Given the description of an element on the screen output the (x, y) to click on. 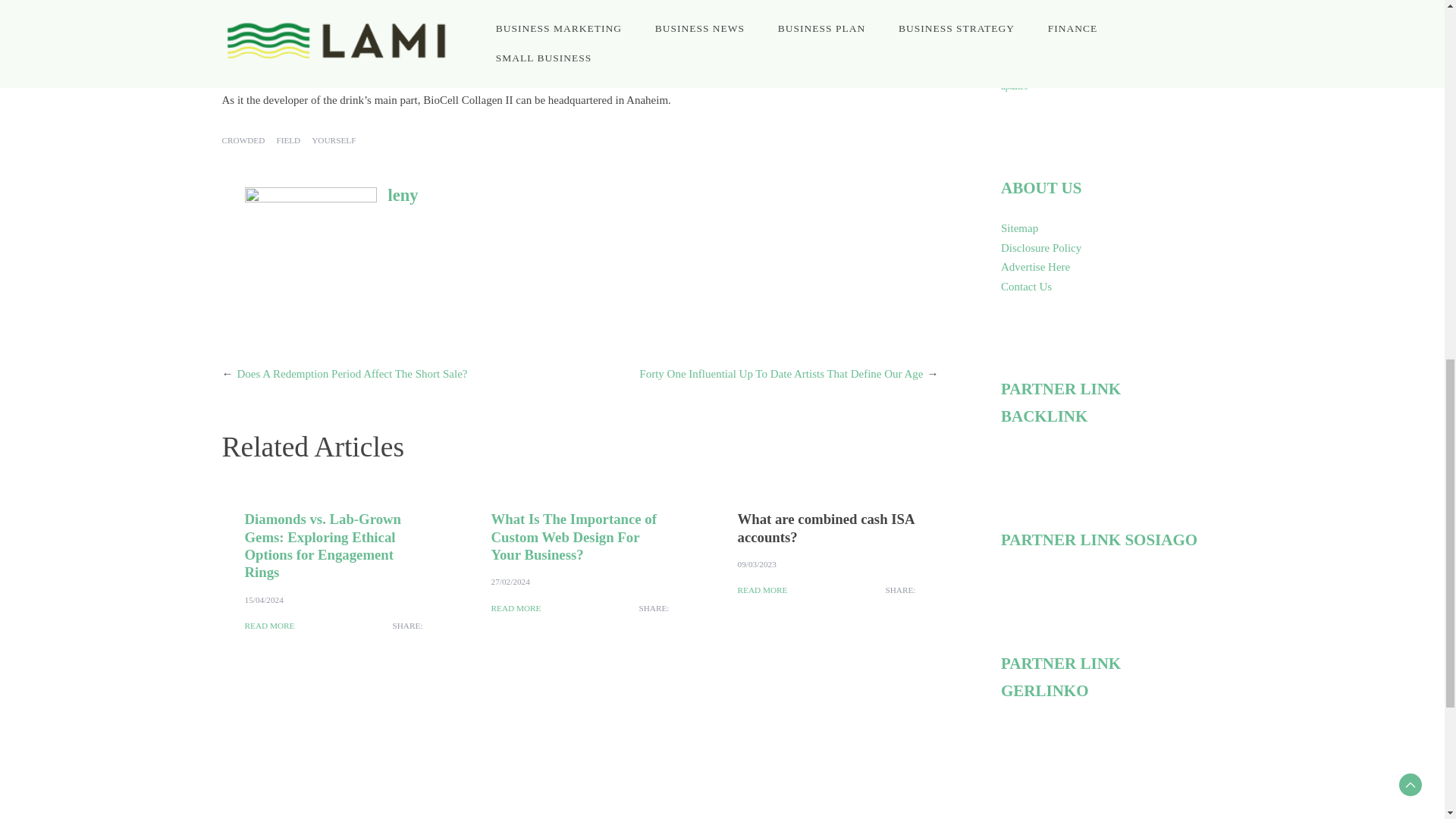
management (1026, 10)
Does A Redemption Period Affect The Short Sale? (351, 373)
Forty One Influential Up To Date Artists That Define Our Age (781, 373)
READ MORE (269, 626)
YOURSELF (333, 140)
newest (1018, 38)
READ MORE (761, 590)
monetary (1184, 11)
market (1076, 9)
leny (403, 194)
online (1060, 36)
READ MORE (516, 608)
FIELD (287, 140)
